Given the description of an element on the screen output the (x, y) to click on. 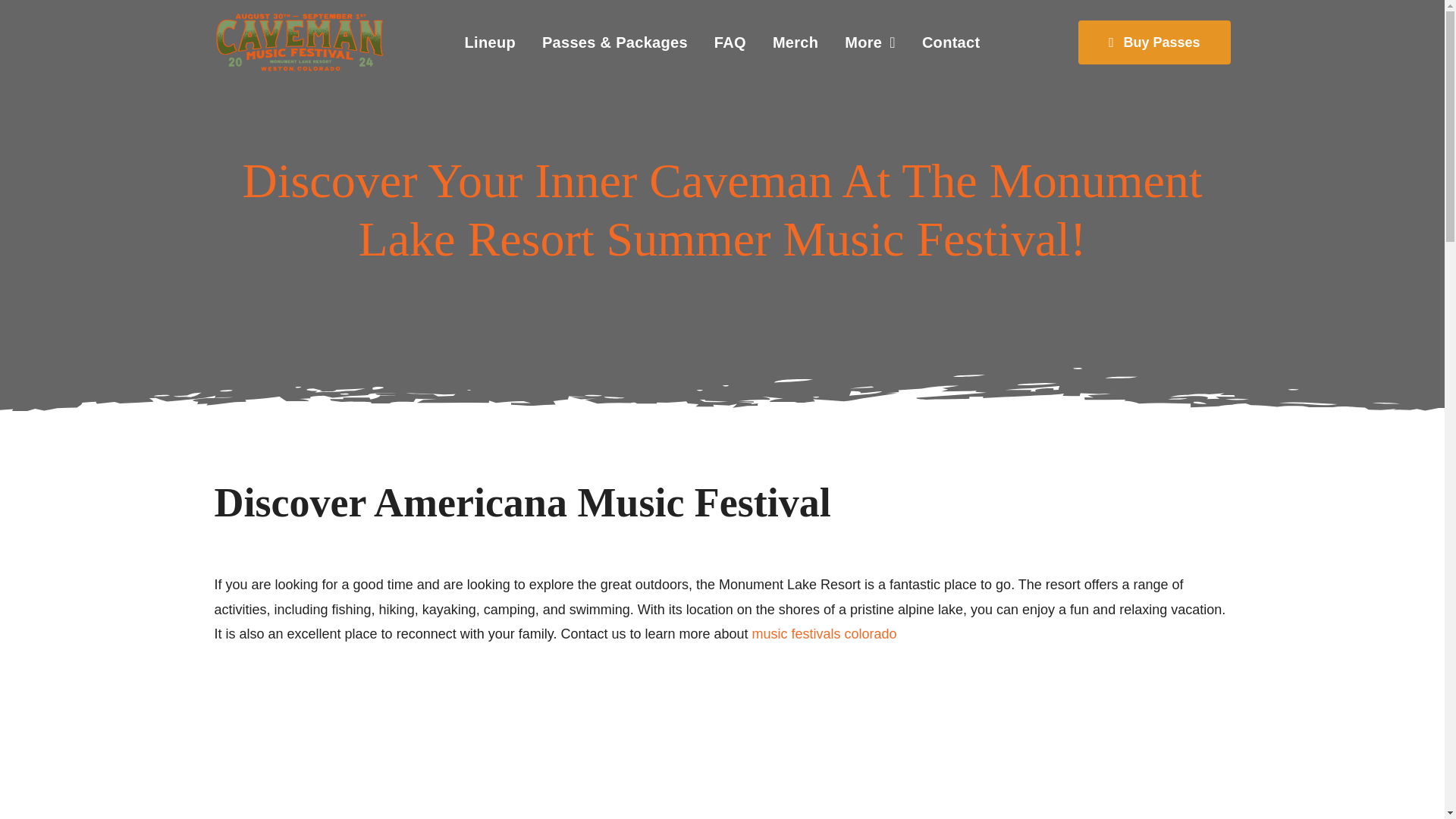
Merch (795, 42)
Buy Passes (1154, 42)
FAQ (730, 42)
music festivals colorado (824, 633)
Contact (951, 42)
More (869, 42)
Lineup (489, 42)
